Given the description of an element on the screen output the (x, y) to click on. 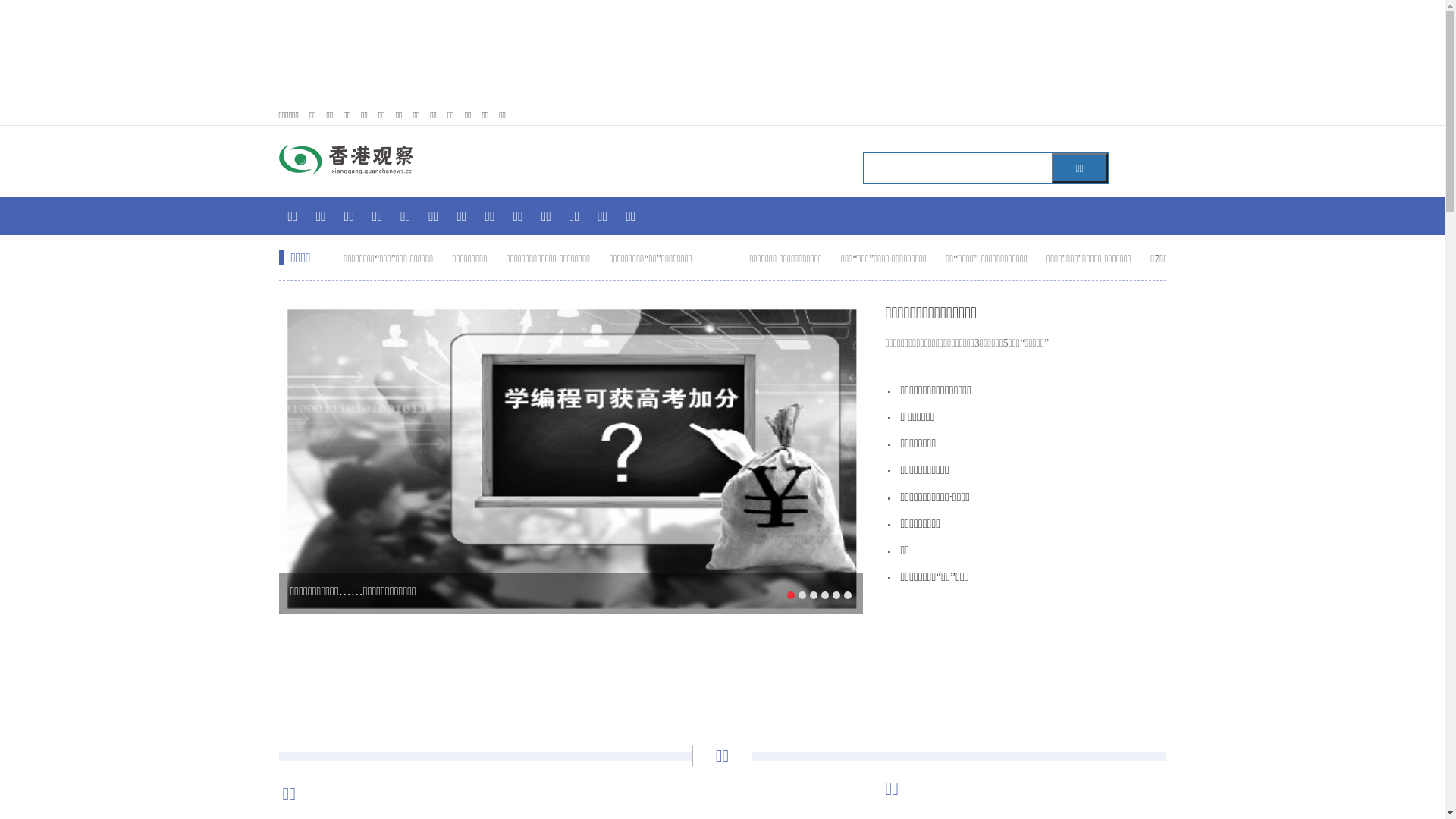
Advertisement Element type: hover (722, 671)
